Given the description of an element on the screen output the (x, y) to click on. 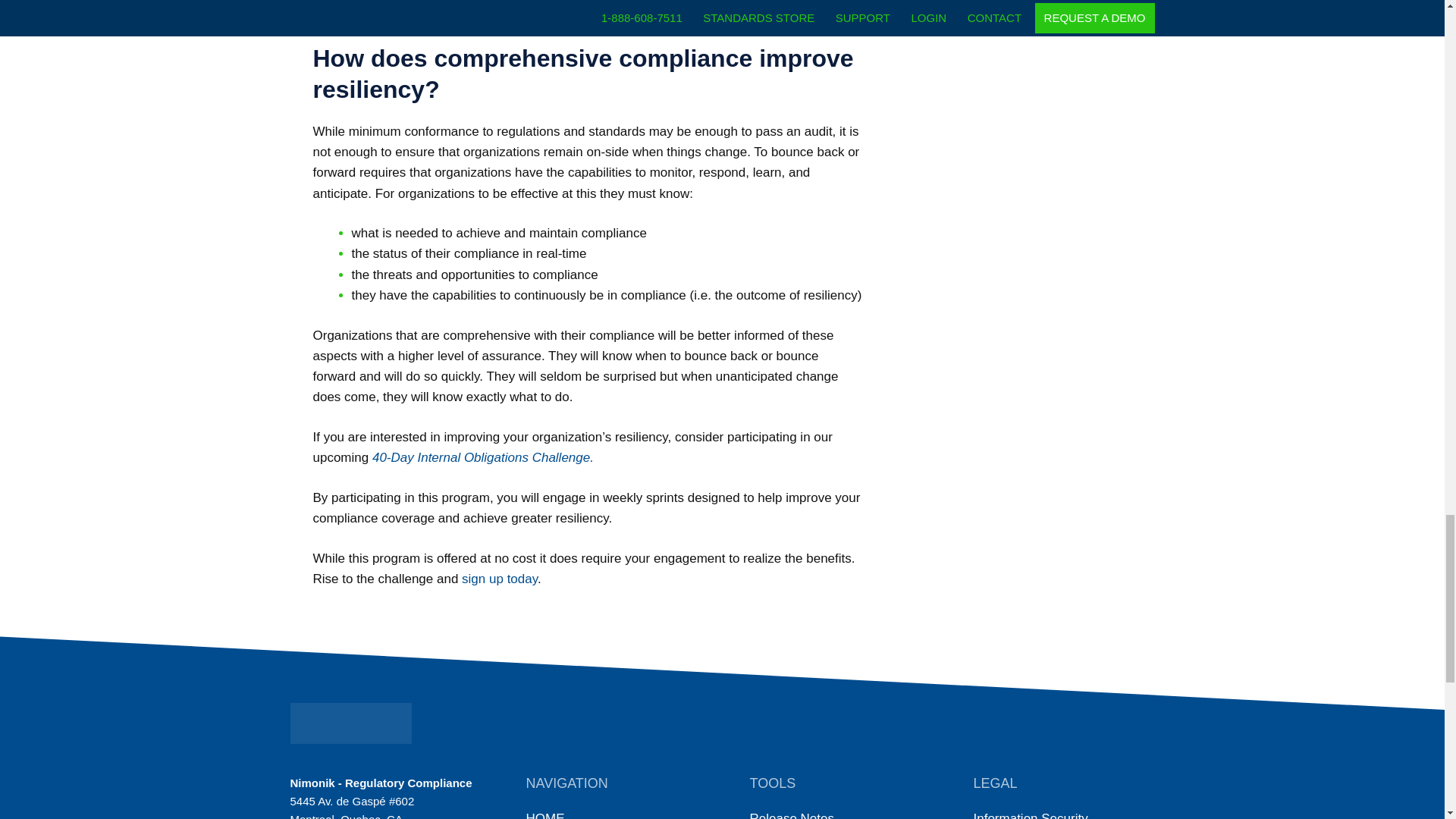
Nimonik inc. (349, 722)
